Given the description of an element on the screen output the (x, y) to click on. 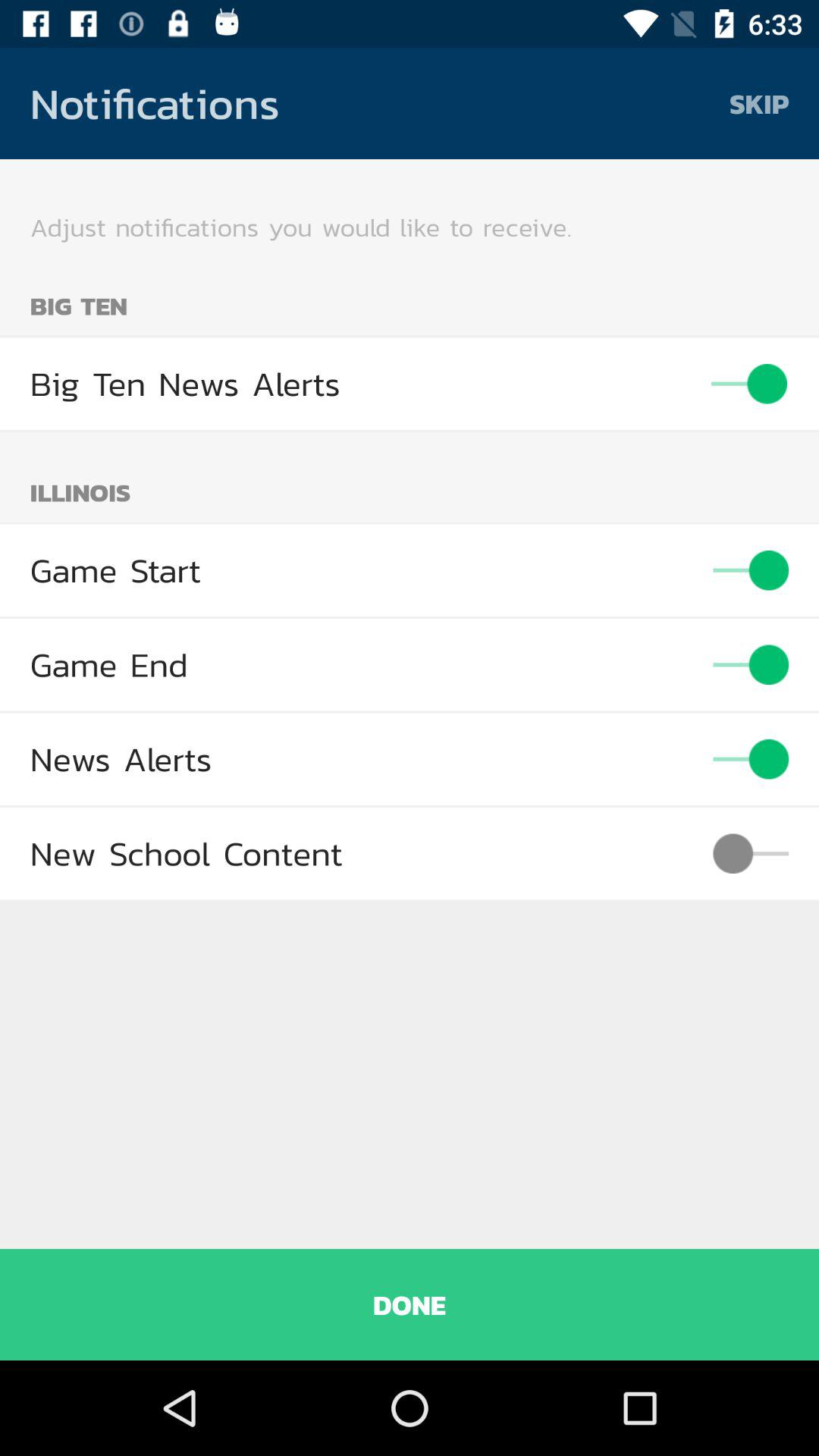
turn on the icon next to the notifications (758, 103)
